Given the description of an element on the screen output the (x, y) to click on. 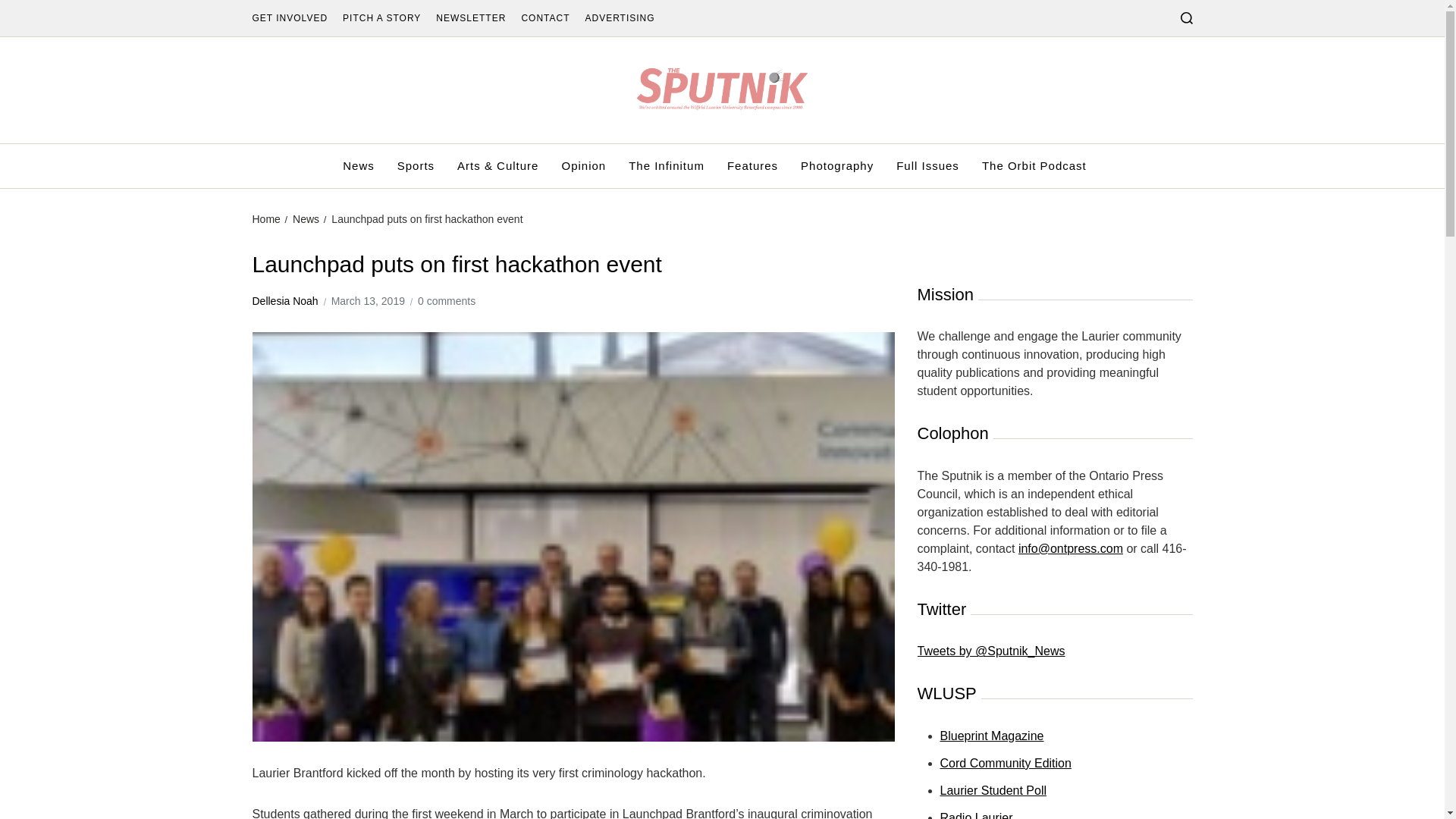
Opinion (582, 166)
Cord Community Edition (1005, 762)
NEWSLETTER (470, 18)
0 comments (446, 301)
ADVERTISING (619, 18)
Full Issues (927, 166)
GET INVOLVED (289, 18)
Blueprint Magazine (991, 735)
The Orbit Podcast (1033, 166)
Home (265, 218)
CONTACT (545, 18)
News (305, 218)
Features (751, 166)
THE SPUTNIK (869, 152)
Dellesia Noah (284, 301)
